Given the description of an element on the screen output the (x, y) to click on. 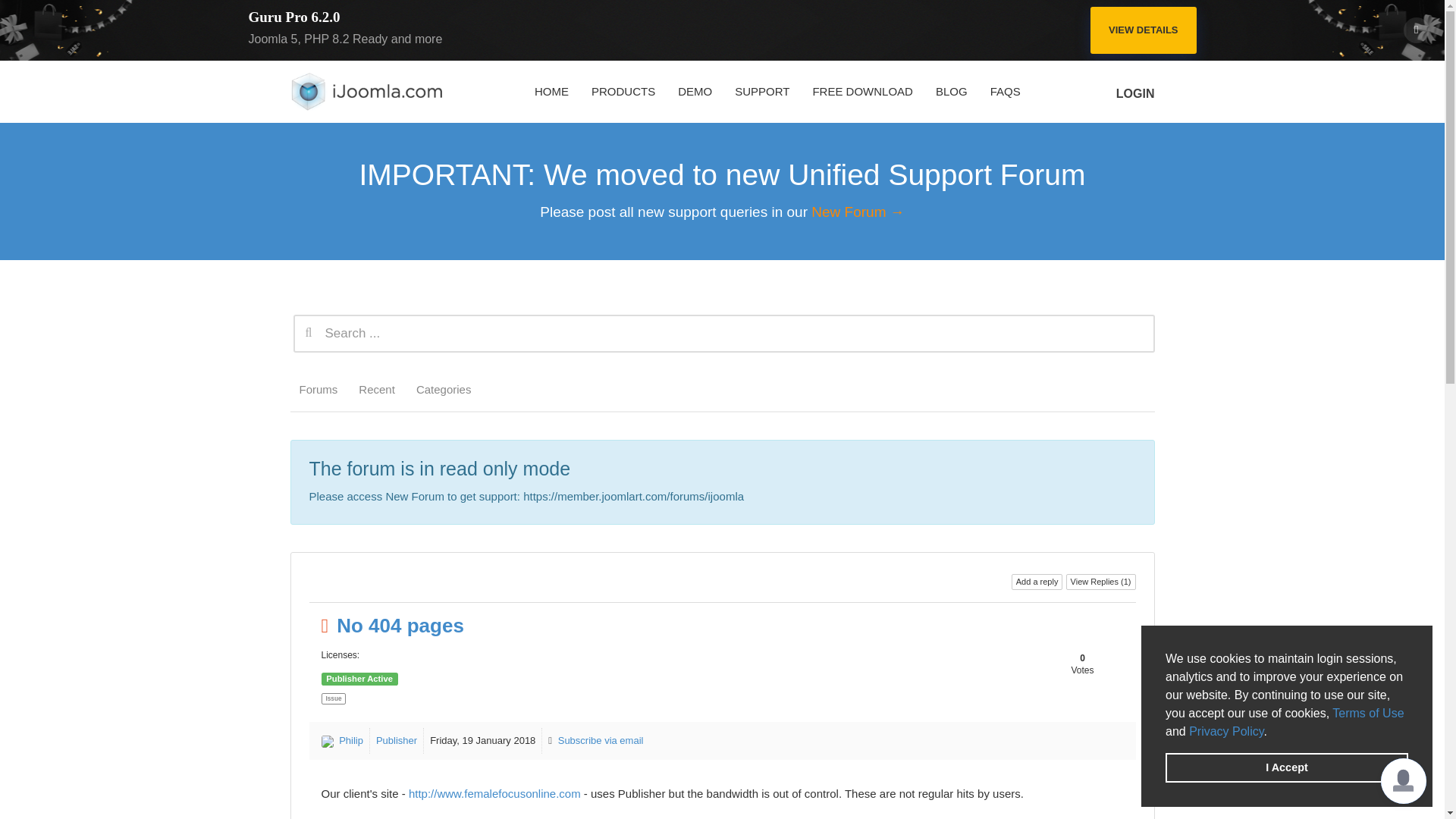
Philip (350, 740)
No 404 pages (400, 626)
iJoomla (365, 91)
Add a reply (1036, 581)
VIEW DETAILS (1142, 30)
SUPPORT (761, 91)
Forums (317, 389)
Categories (443, 389)
DEMO (694, 91)
Privacy Policy Details (1226, 730)
HOME (550, 91)
Philip (327, 741)
LOGIN (1133, 89)
Recent (376, 389)
Terms of Use Details (1367, 712)
